Given the description of an element on the screen output the (x, y) to click on. 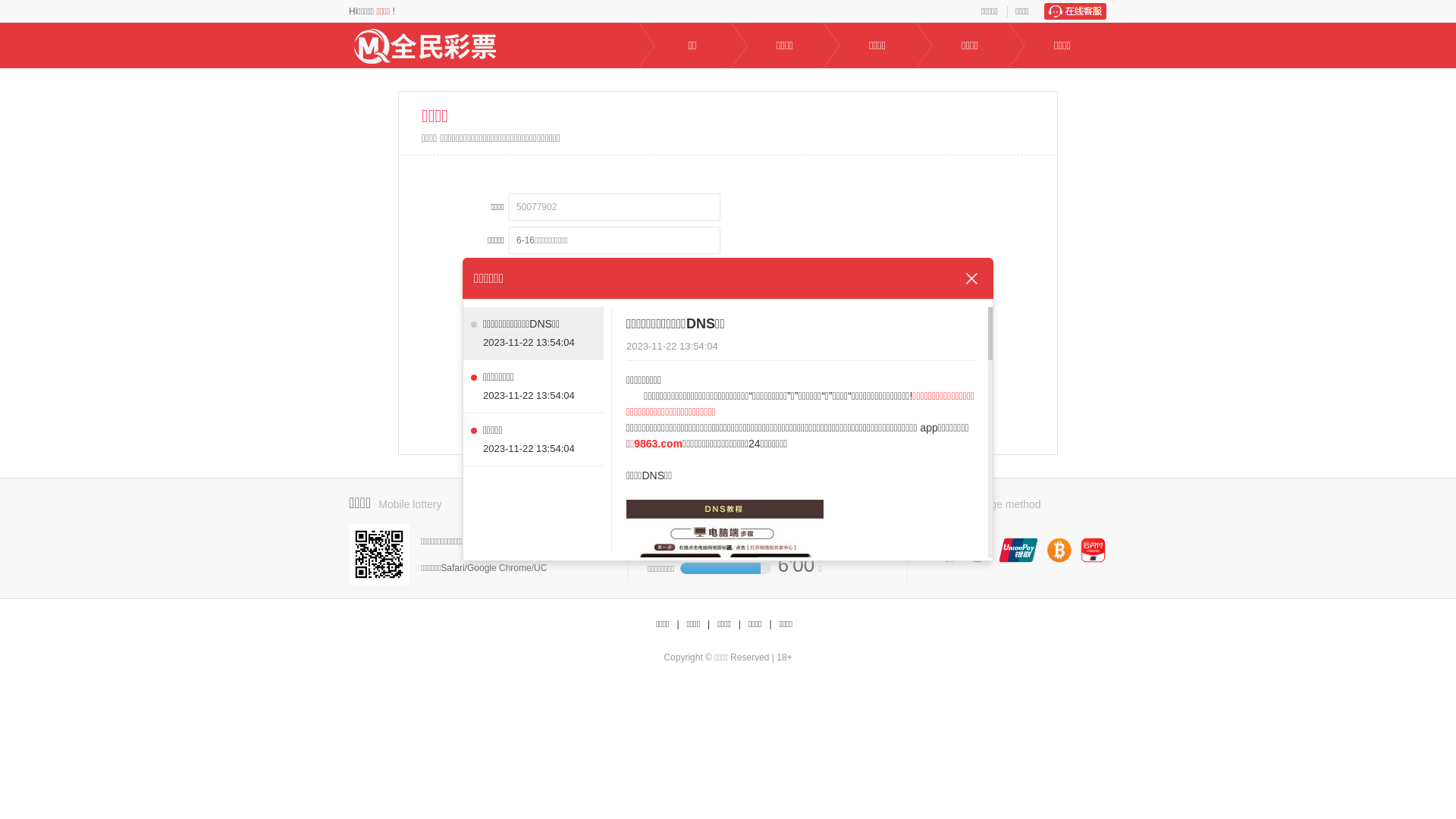
| Element type: text (769, 624)
| Element type: text (739, 624)
| Element type: text (677, 624)
| Element type: text (708, 624)
